Given the description of an element on the screen output the (x, y) to click on. 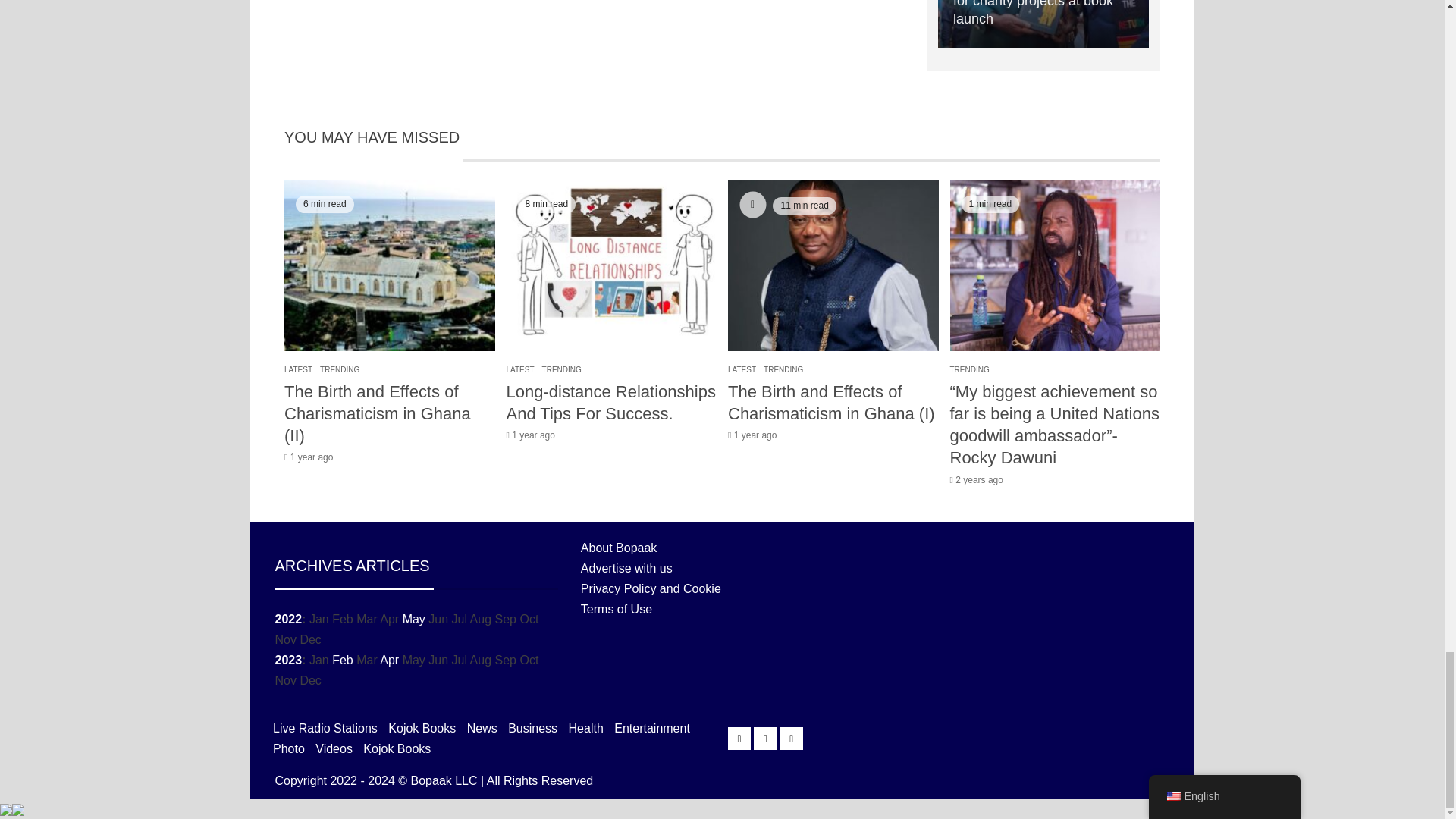
May 2009 (414, 618)
April 2009 (389, 659)
February 2009 (342, 659)
